Given the description of an element on the screen output the (x, y) to click on. 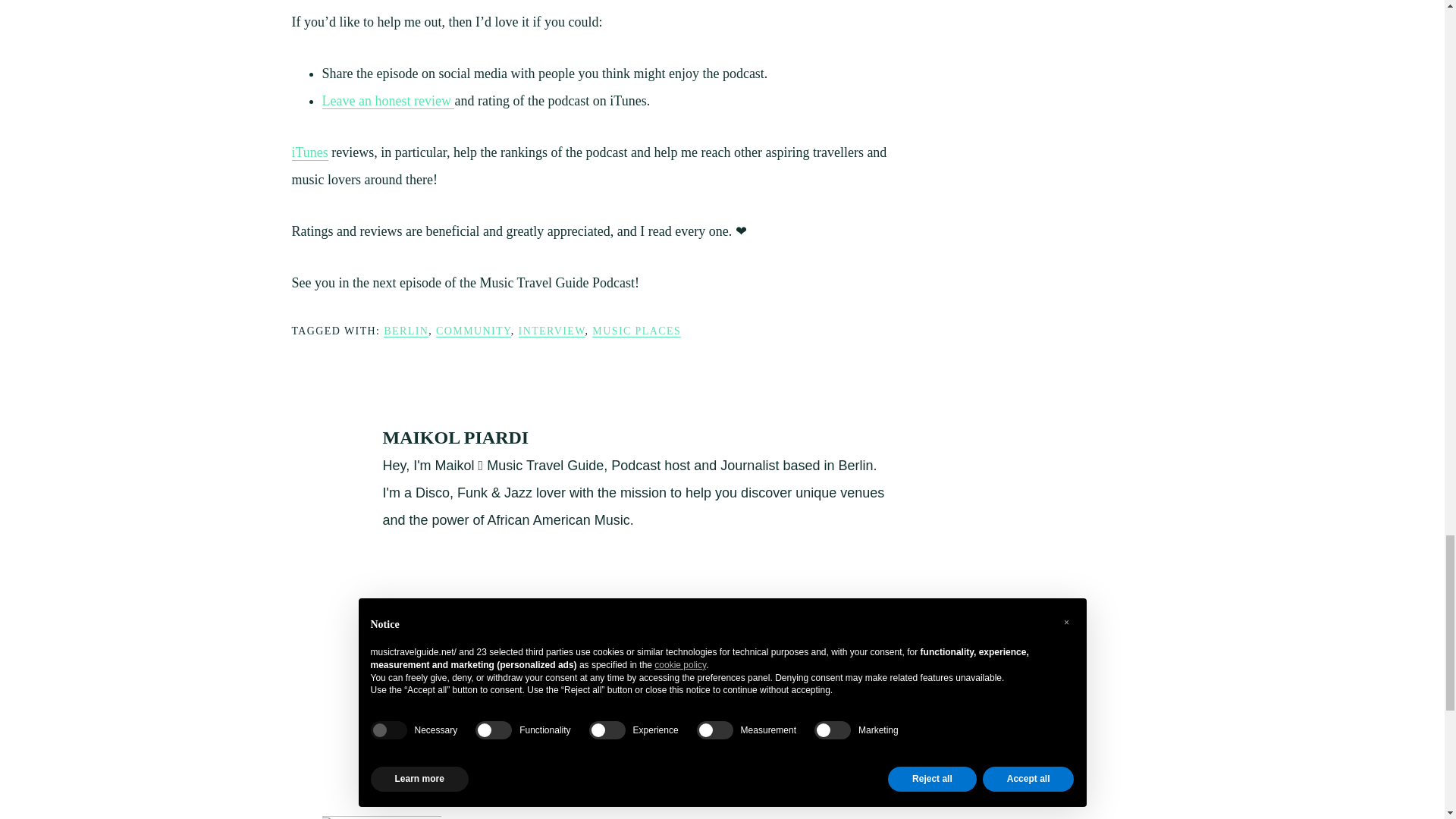
BERLIN (406, 331)
Leave an honest review  (387, 100)
MUSIC PLACES (636, 331)
iTunes (309, 152)
INTERVIEW (551, 331)
Music-Travel-Guide (383, 817)
COMMUNITY (473, 331)
